Given the description of an element on the screen output the (x, y) to click on. 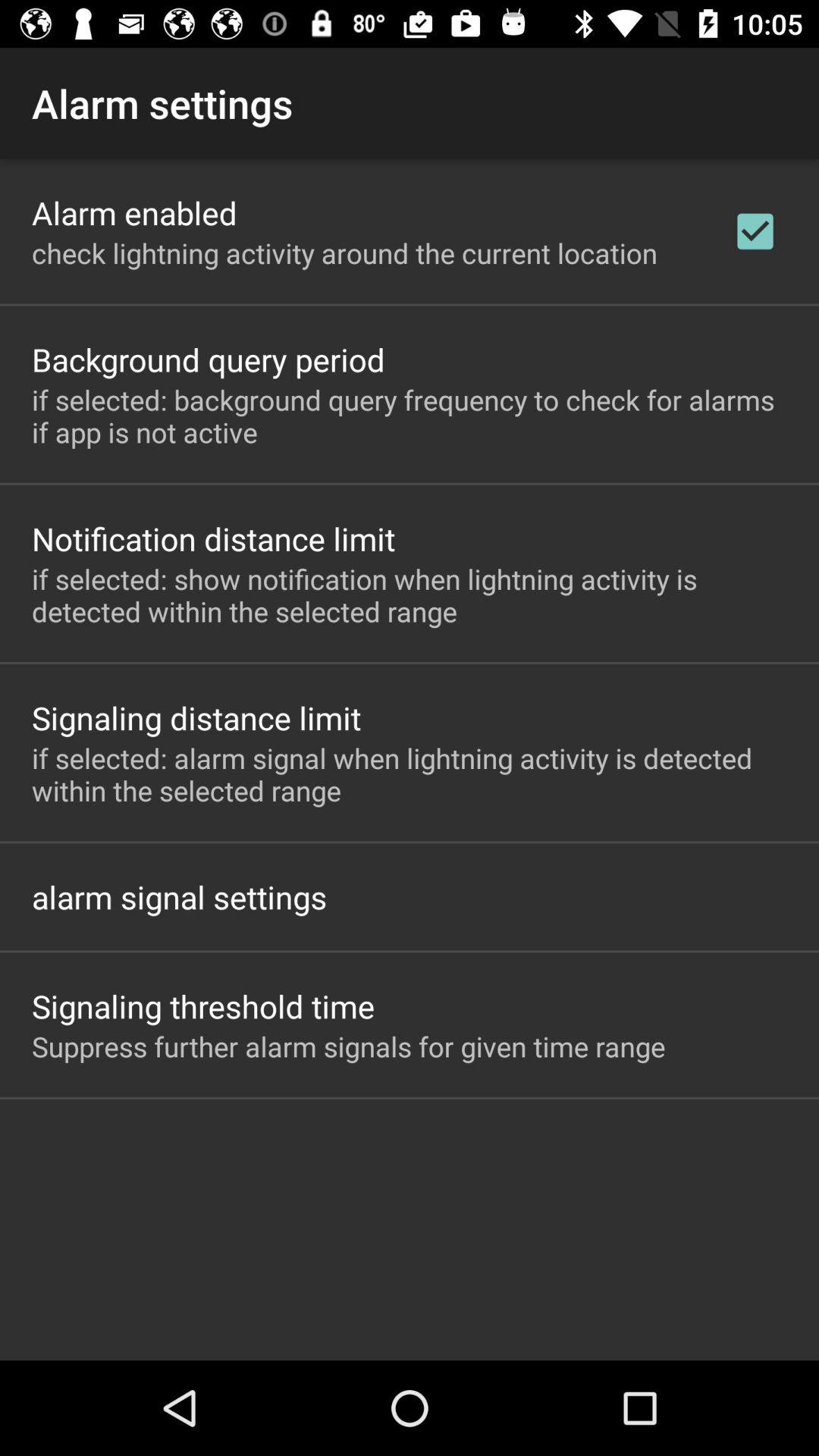
flip until alarm enabled item (134, 212)
